Given the description of an element on the screen output the (x, y) to click on. 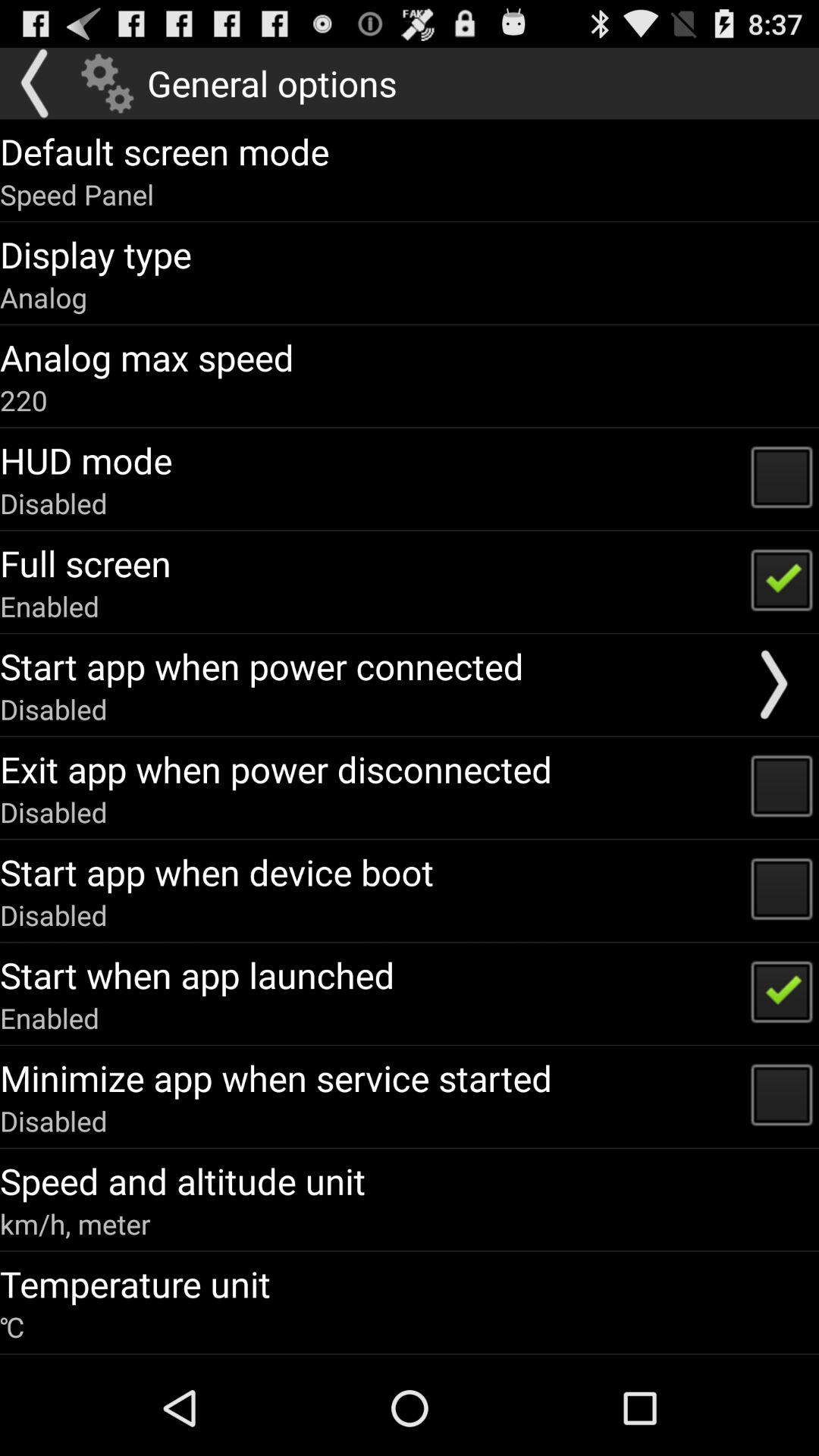
open the icon above km/h, meter app (182, 1180)
